Given the description of an element on the screen output the (x, y) to click on. 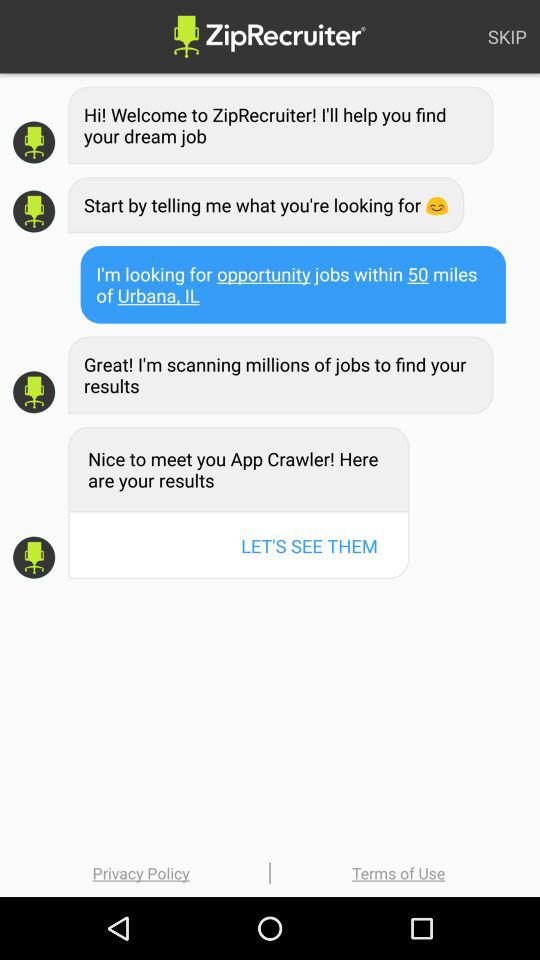
tap privacy policy item (141, 872)
